Given the description of an element on the screen output the (x, y) to click on. 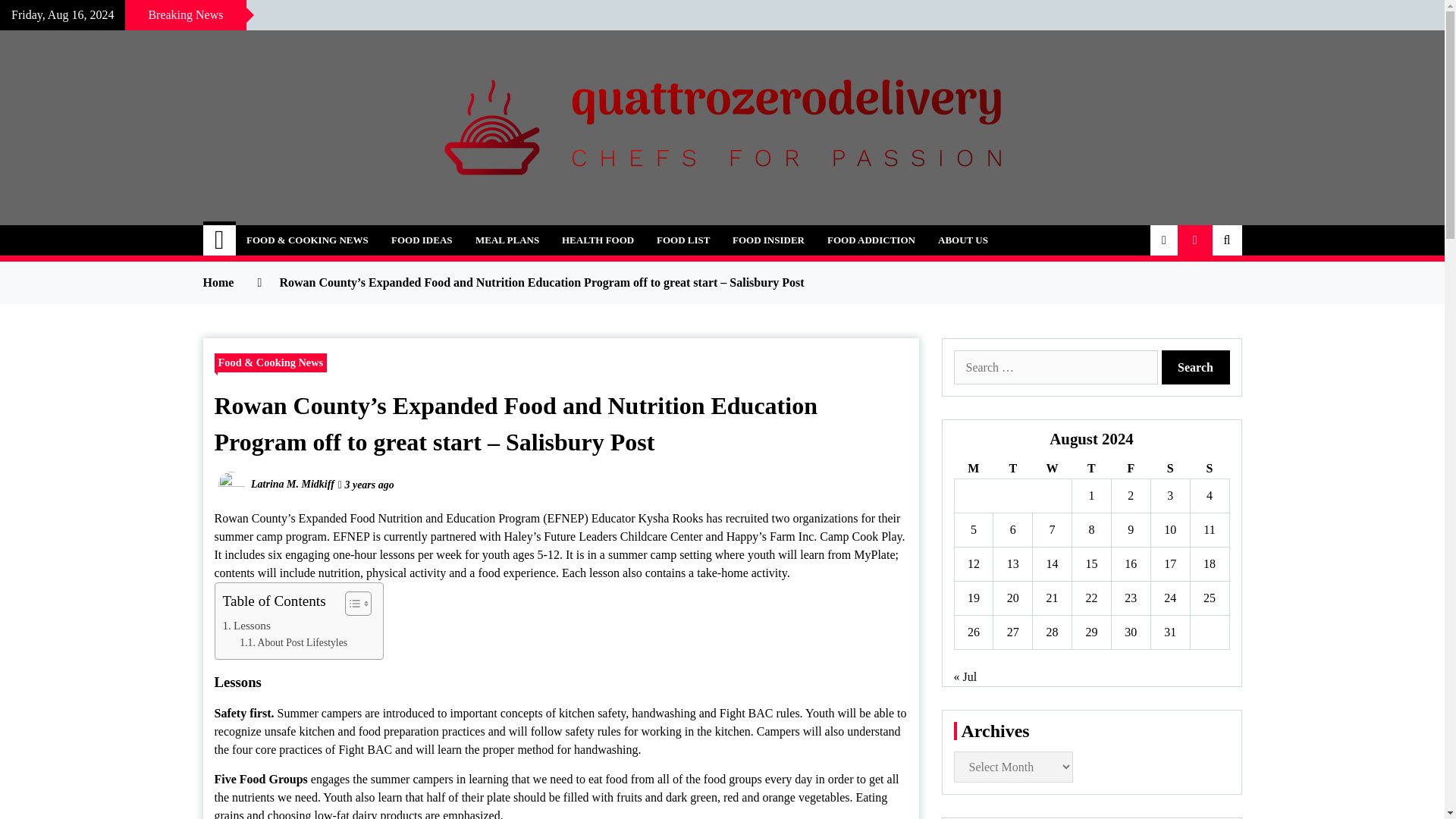
FOOD INSIDER (767, 240)
FOOD IDEAS (422, 240)
quattrozerodelivery (345, 231)
HEALTH FOOD (597, 240)
Lessons (246, 625)
MEAL PLANS (507, 240)
Home (219, 240)
FOOD ADDICTION (870, 240)
Wednesday (1051, 468)
Sunday (1208, 468)
